Given the description of an element on the screen output the (x, y) to click on. 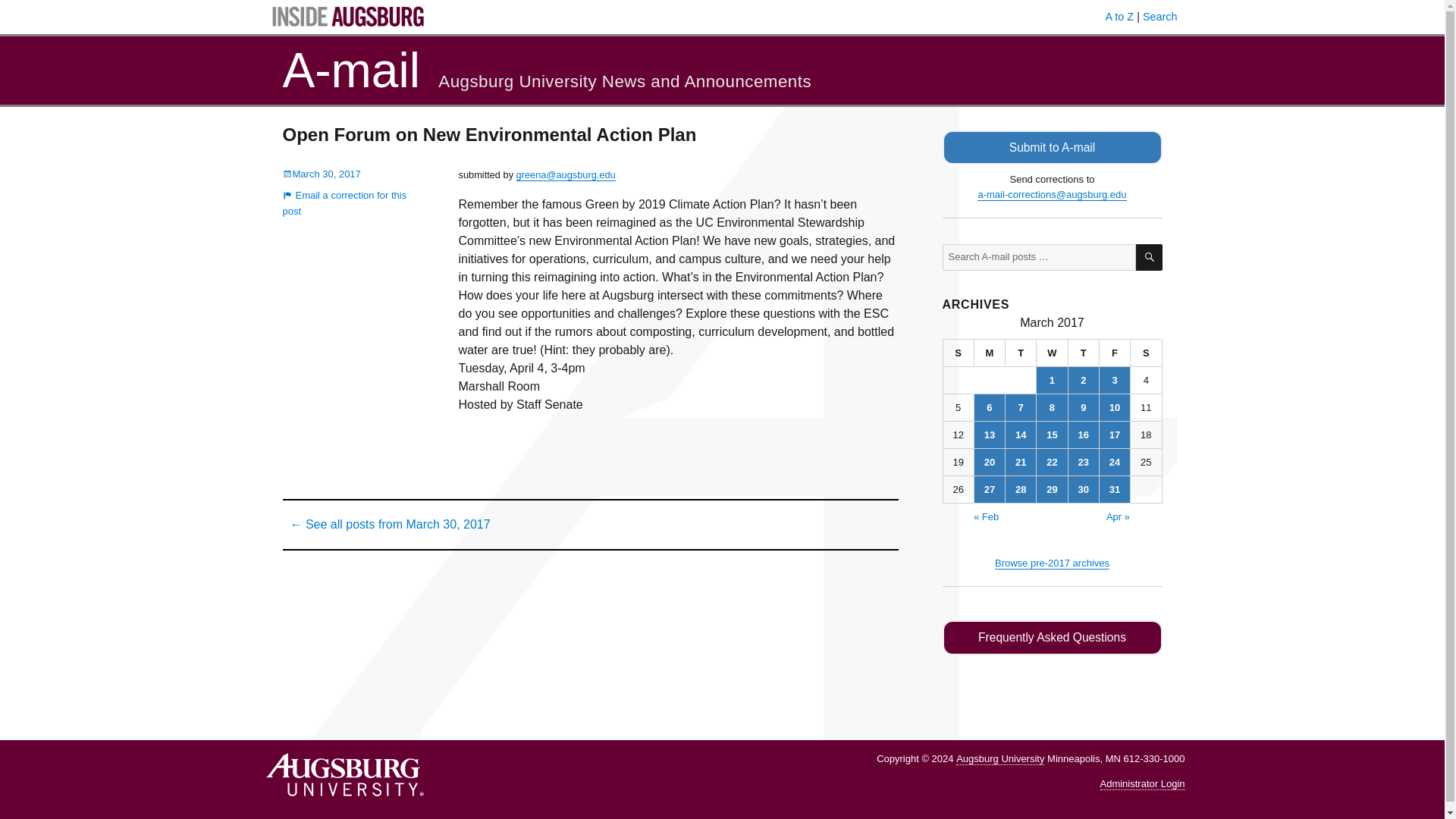
2 (1083, 379)
Search (1159, 16)
A-mail (350, 70)
A to Z (1119, 16)
Browse pre-2017 archives (1051, 562)
24 (1114, 461)
21 (1020, 461)
31 (1114, 488)
6 (989, 406)
Friday (1115, 352)
